Given the description of an element on the screen output the (x, y) to click on. 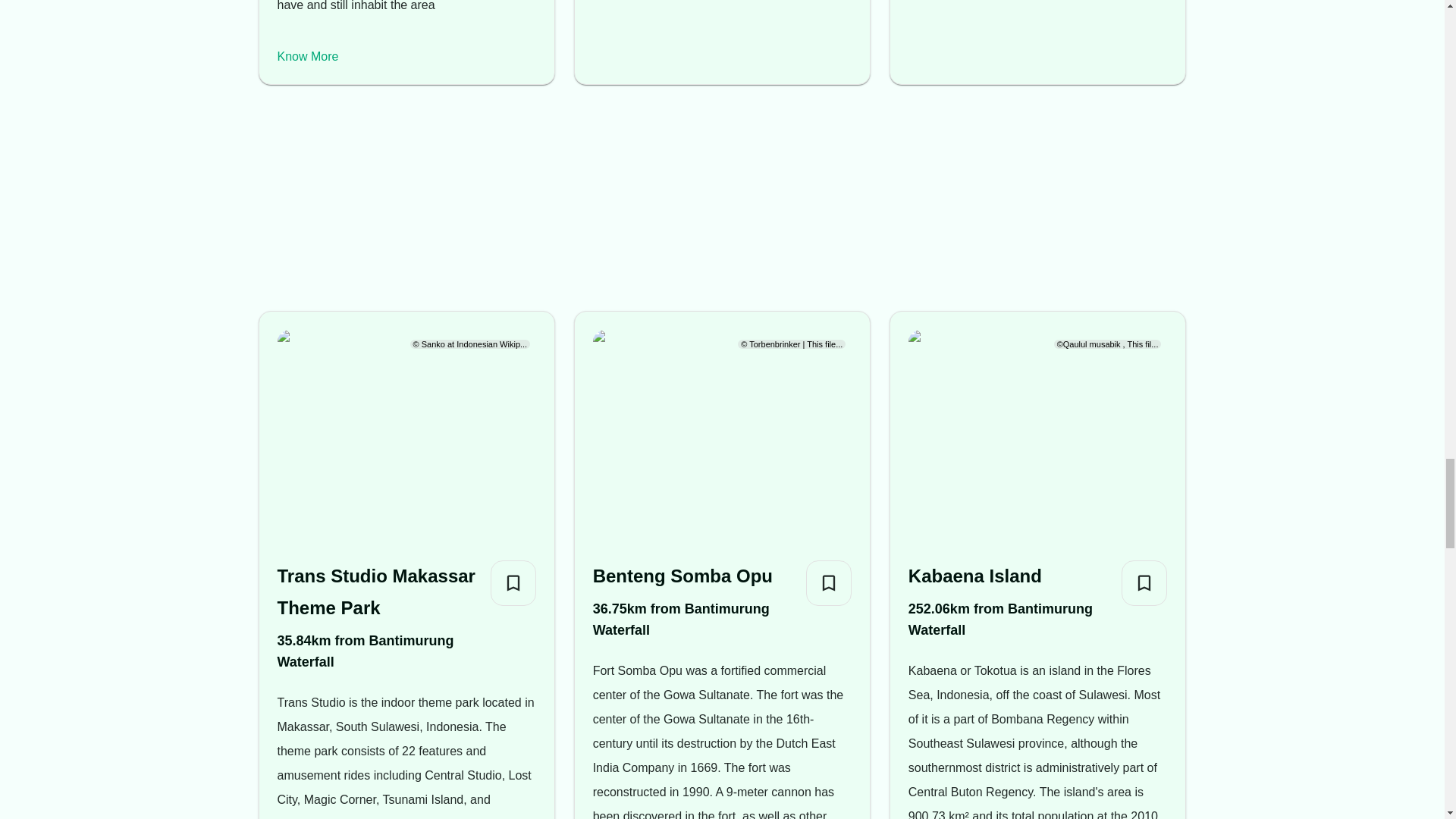
Add to Bucket List (828, 583)
Add to Bucket List (1144, 583)
Add to Bucket List (512, 583)
